Given the description of an element on the screen output the (x, y) to click on. 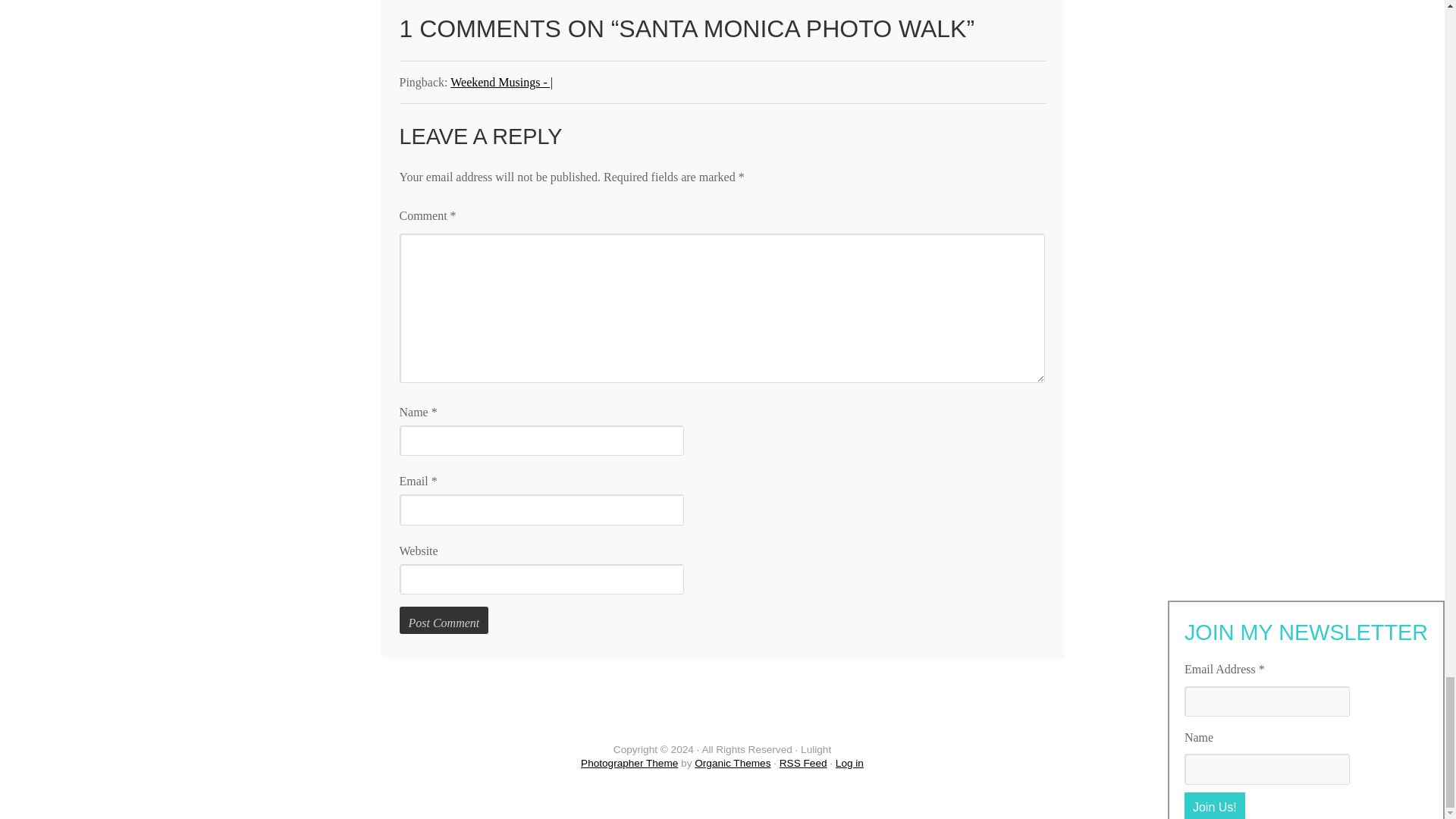
Log in (849, 763)
RSS Feed (802, 763)
Photographer Theme (629, 763)
Organic Themes (732, 763)
Post Comment (442, 619)
Post Comment (442, 619)
